Given the description of an element on the screen output the (x, y) to click on. 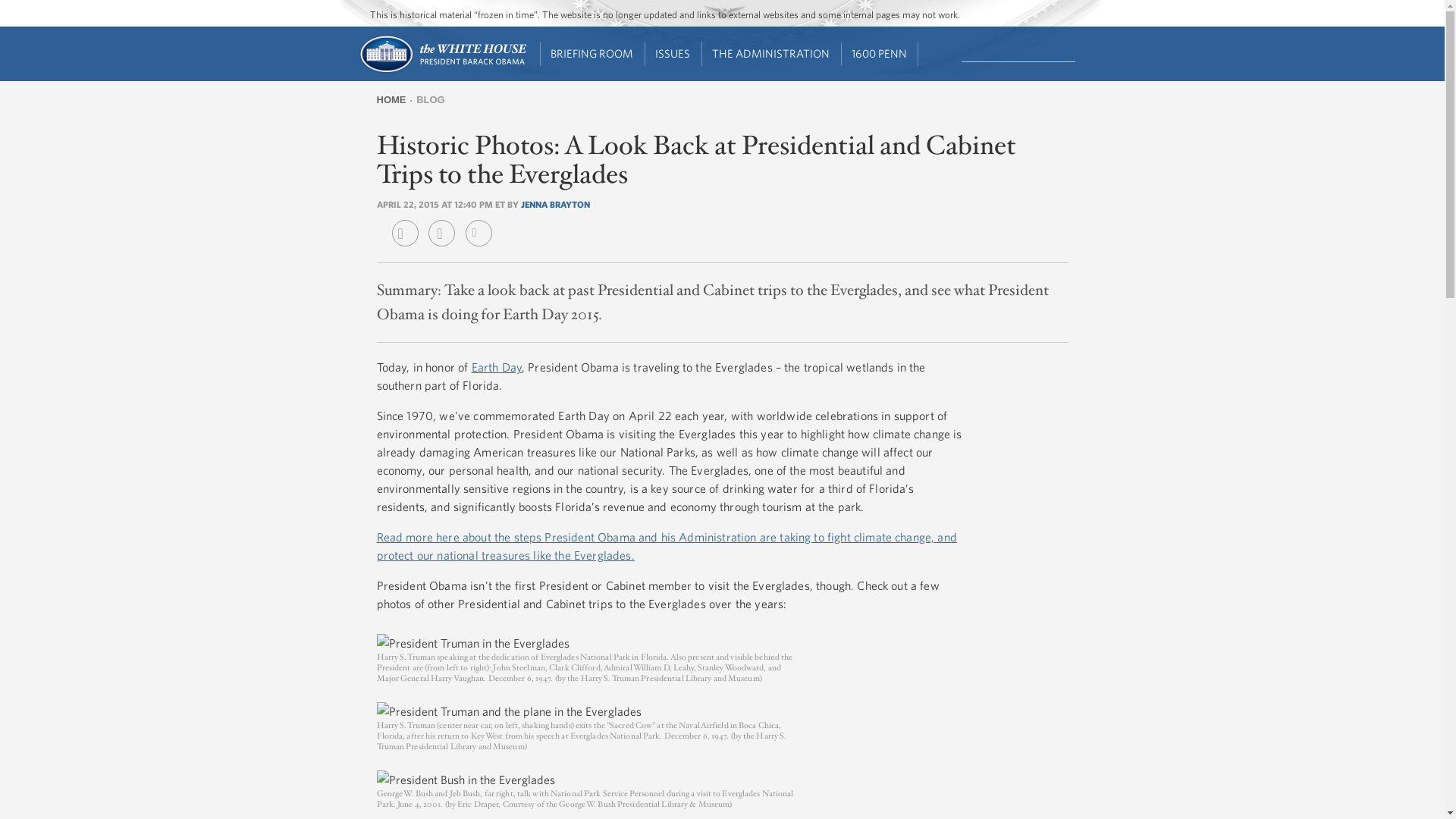
President Truman in the Everglades (472, 642)
Home (441, 70)
Enter the terms you wish to search for. (1017, 52)
BRIEFING ROOM (592, 53)
ISSUES (673, 53)
President Truman and the plane in the Everglades (507, 710)
Search (1076, 51)
President Bush in the Everglades (464, 779)
